Given the description of an element on the screen output the (x, y) to click on. 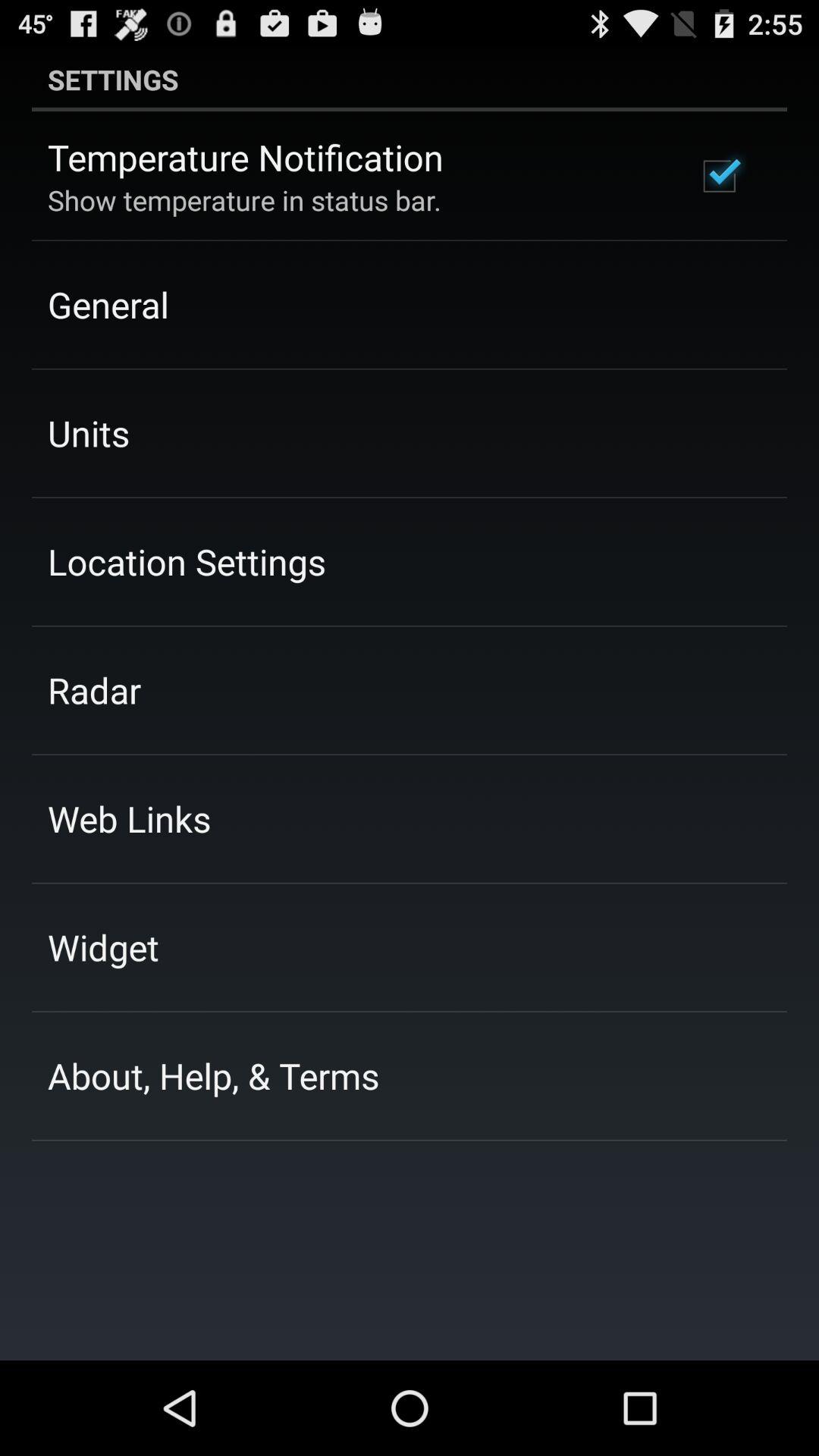
swipe until the location settings icon (186, 561)
